Given the description of an element on the screen output the (x, y) to click on. 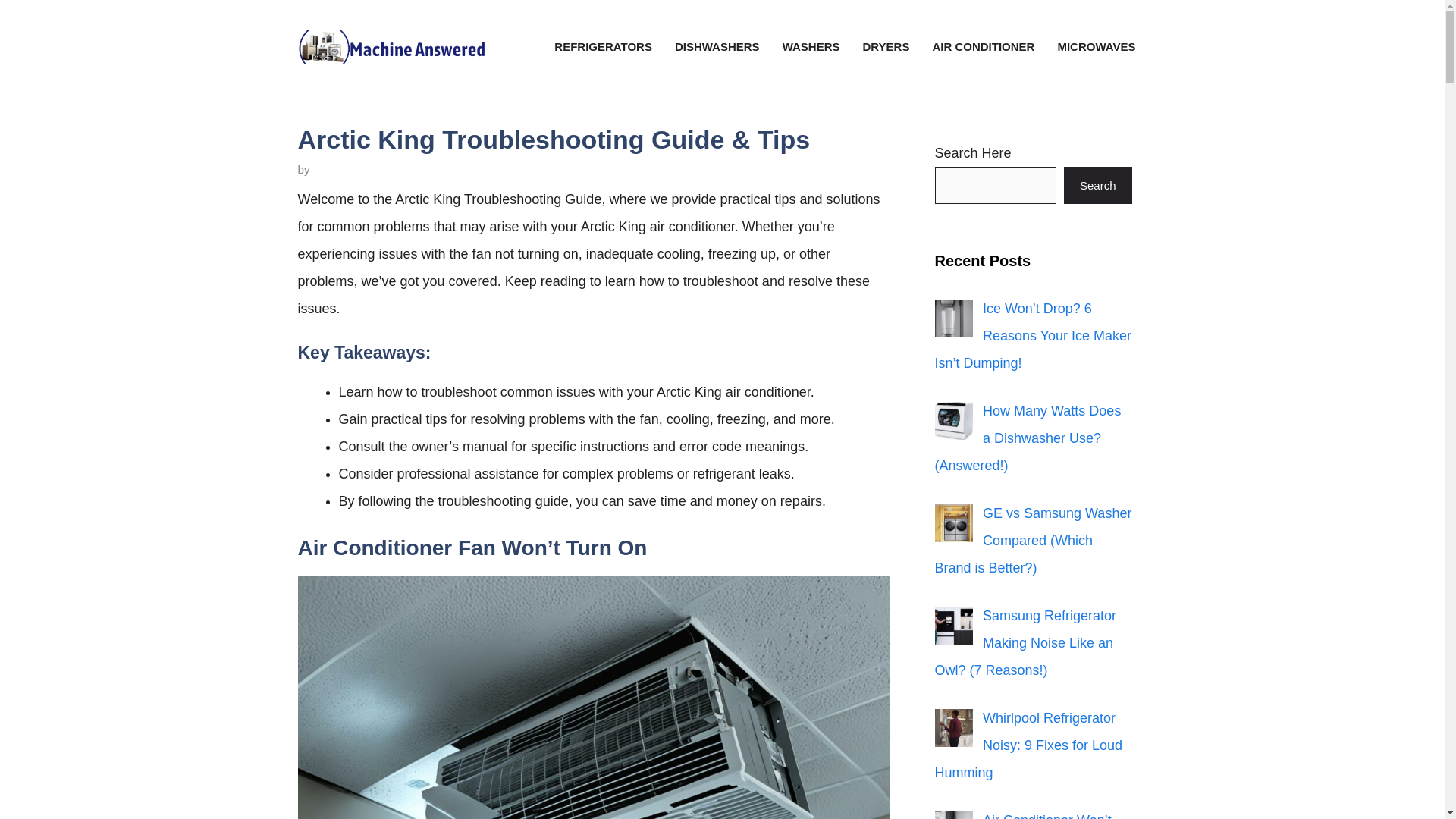
AIR CONDITIONER (982, 46)
DISHWASHERS (717, 46)
REFRIGERATORS (603, 46)
MICROWAVES (1096, 46)
WASHERS (811, 46)
DRYERS (885, 46)
Search (1098, 185)
Whirlpool Refrigerator Noisy: 9 Fixes for Loud Humming (1028, 745)
